Given the description of an element on the screen output the (x, y) to click on. 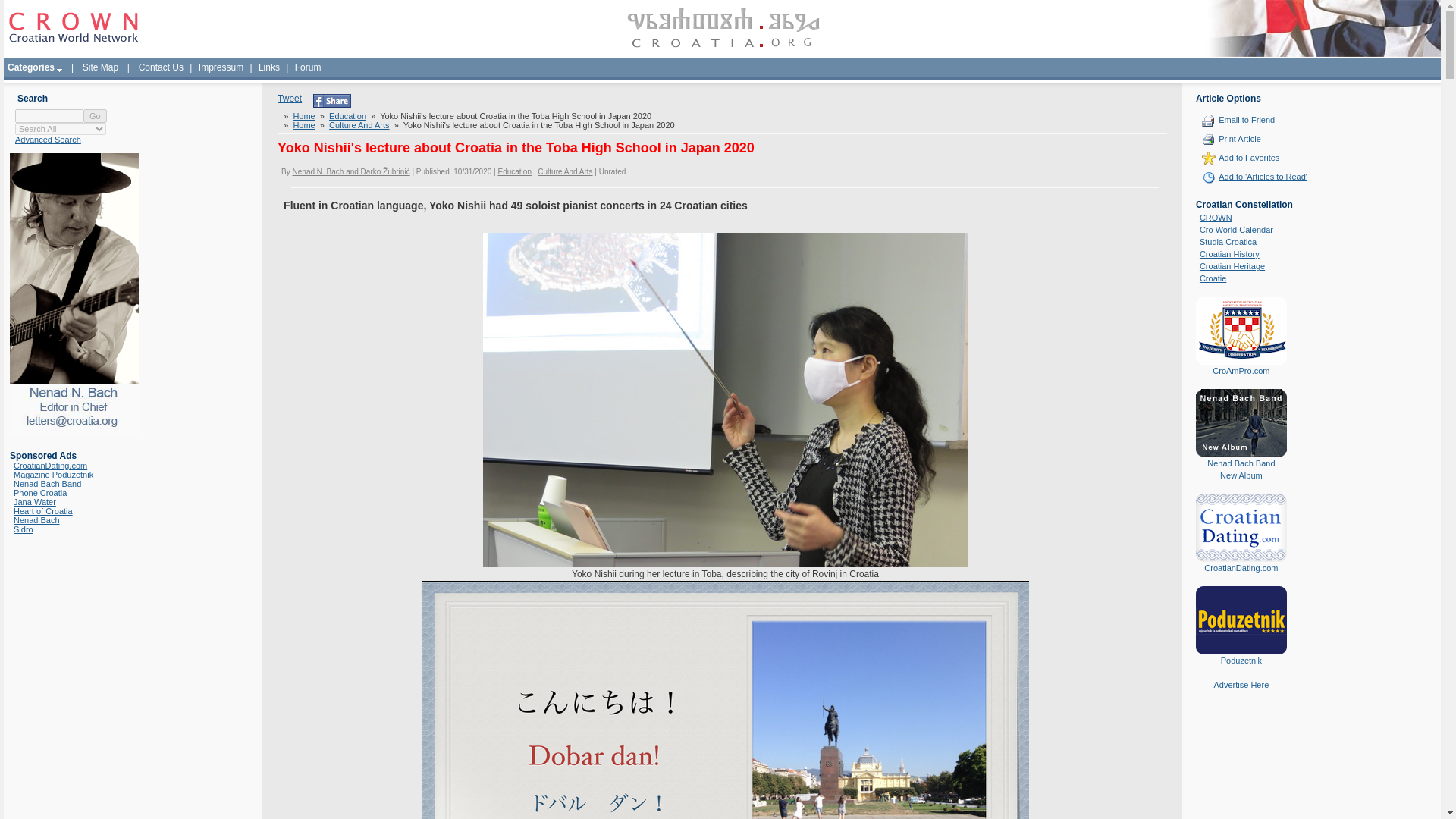
Nenad Bach Band (47, 483)
Phone Croatia (39, 492)
Nenad Bach (36, 519)
Site Map (100, 67)
Links (268, 67)
Contact Us (161, 67)
Advanced Search (47, 139)
Magazine Poduzetnik (53, 474)
Culture And Arts (564, 171)
CroatianDating.com (50, 465)
Categories  (34, 67)
Home (303, 124)
Go (94, 115)
Culture And Arts (359, 124)
Heart of Croatia (42, 510)
